Given the description of an element on the screen output the (x, y) to click on. 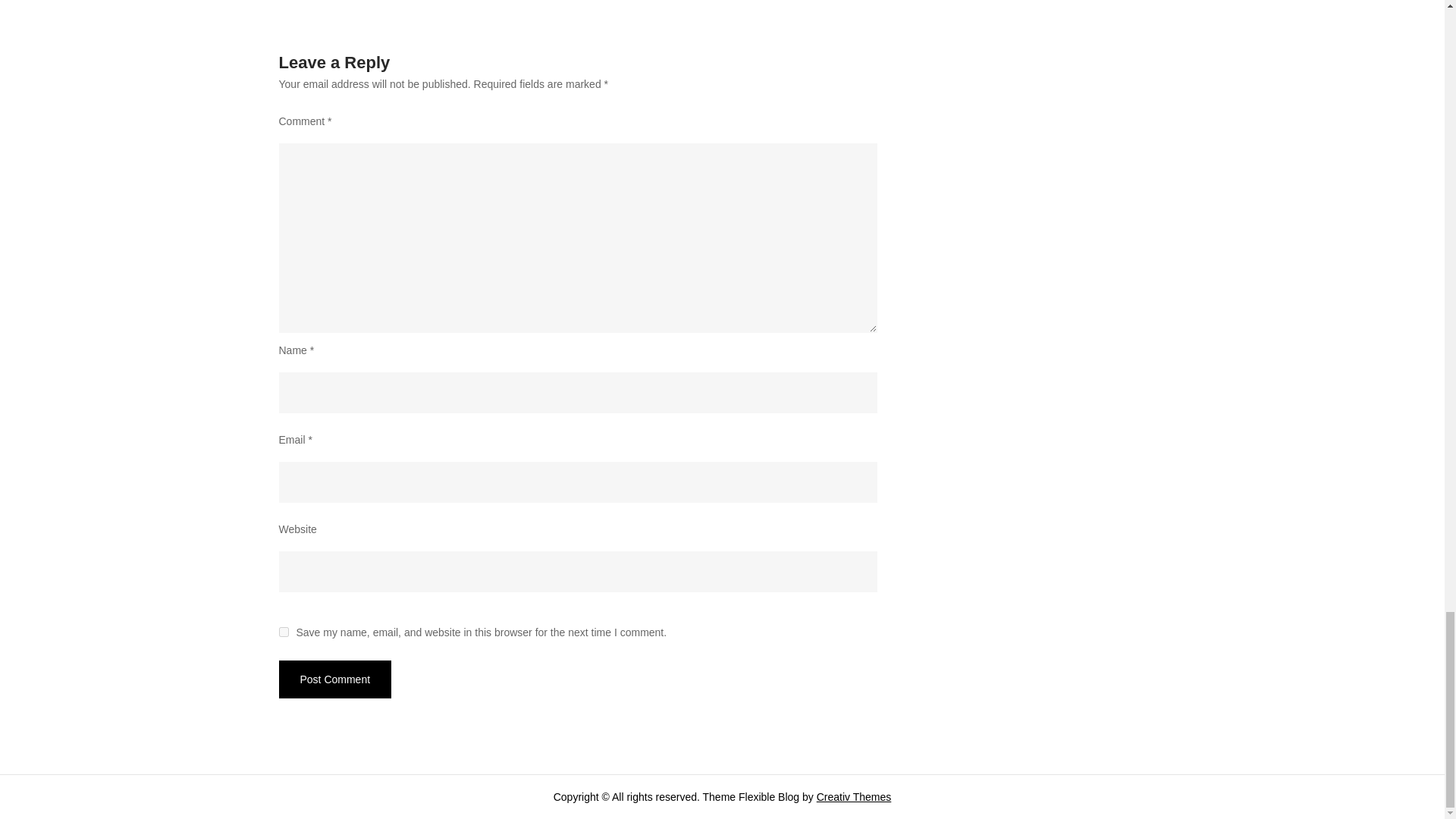
Post Comment (335, 679)
yes (283, 632)
Post Comment (335, 679)
